Given the description of an element on the screen output the (x, y) to click on. 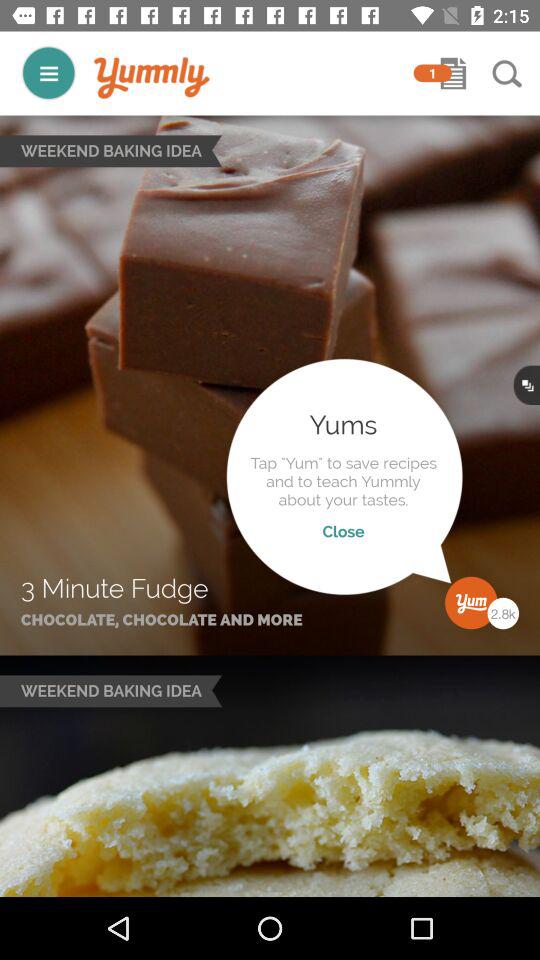
new massage (453, 73)
